Given the description of an element on the screen output the (x, y) to click on. 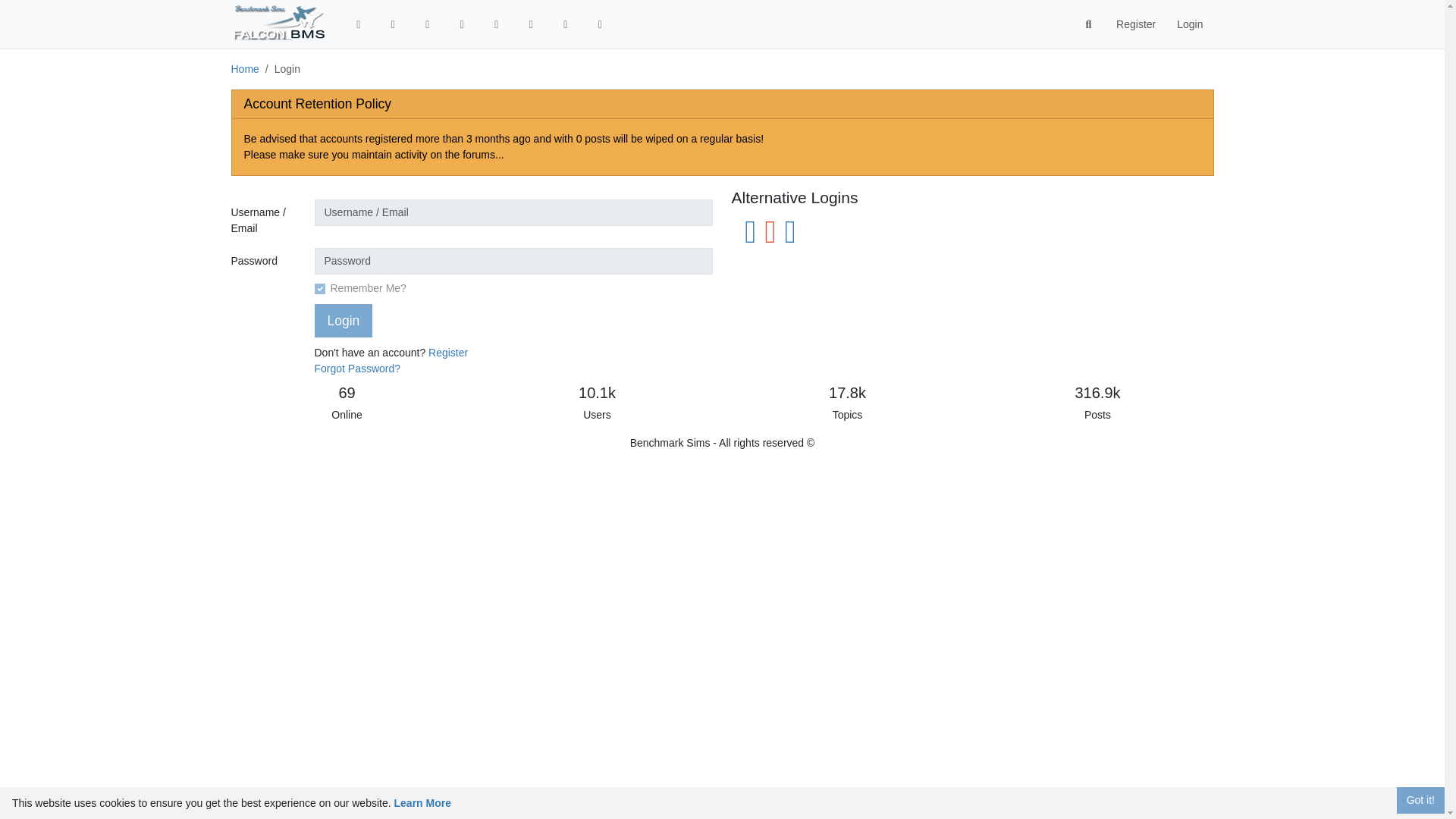
Contact (600, 24)
Learn More (422, 802)
Search (1088, 24)
Register (447, 352)
Discord (565, 24)
Home (244, 69)
Wiki (530, 24)
on (319, 288)
Popular (462, 24)
Categories (357, 24)
Recent (427, 24)
Login (343, 320)
Unread (392, 24)
Website (496, 24)
Register (1135, 24)
